Given the description of an element on the screen output the (x, y) to click on. 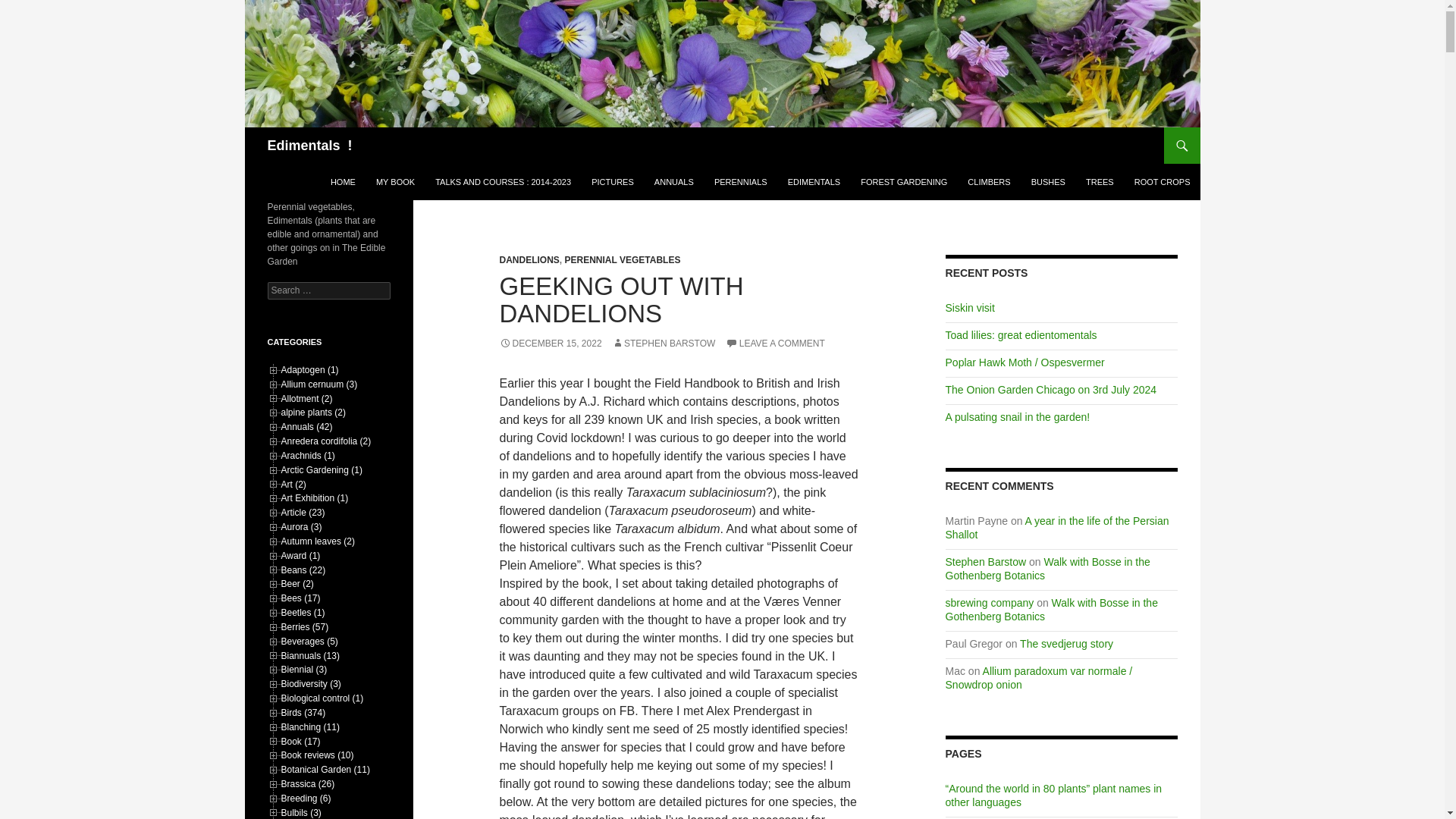
EDIMENTALS (813, 181)
PERENNIAL VEGETABLES (622, 259)
CLIMBERS (988, 181)
BUSHES (1048, 181)
DECEMBER 15, 2022 (550, 343)
ANNUALS (674, 181)
PICTURES (612, 181)
TALKS AND COURSES : 2014-2023 (502, 181)
STEPHEN BARSTOW (662, 343)
Edimentals  ! (309, 145)
HOME (343, 181)
DANDELIONS (529, 259)
ROOT CROPS (1162, 181)
